Given the description of an element on the screen output the (x, y) to click on. 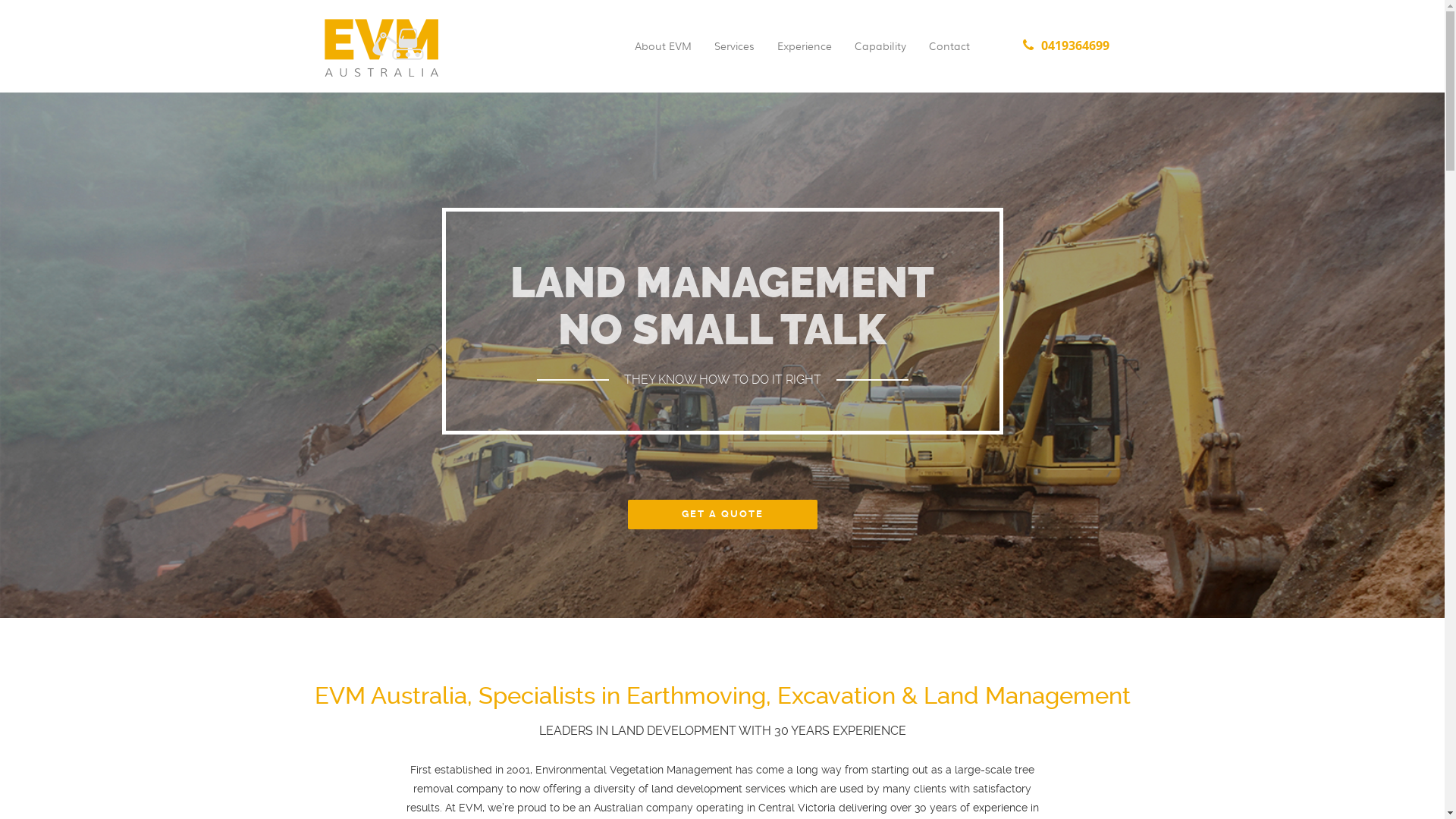
0419364699 Element type: text (1065, 55)
Experience Element type: text (804, 55)
GET A QUOTE Element type: text (722, 514)
Capability Element type: text (880, 55)
Services Element type: text (733, 55)
Contact Element type: text (949, 55)
About EVM Element type: text (662, 55)
